Given the description of an element on the screen output the (x, y) to click on. 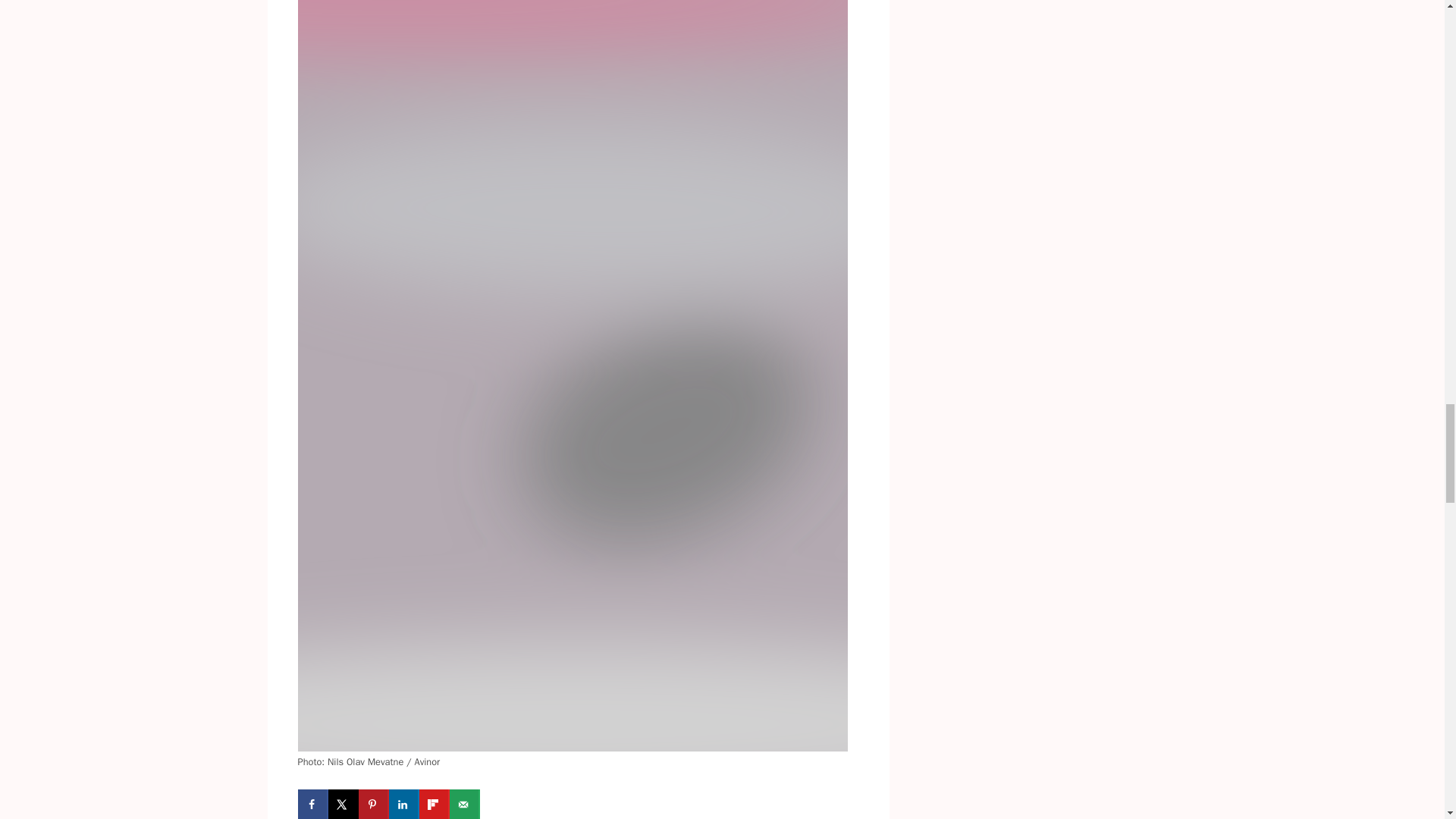
Share on Facebook (312, 804)
Save to Pinterest (373, 804)
Share on X (342, 804)
Share on LinkedIn (403, 804)
Share on Flipboard (433, 804)
Send over email (463, 804)
